Given the description of an element on the screen output the (x, y) to click on. 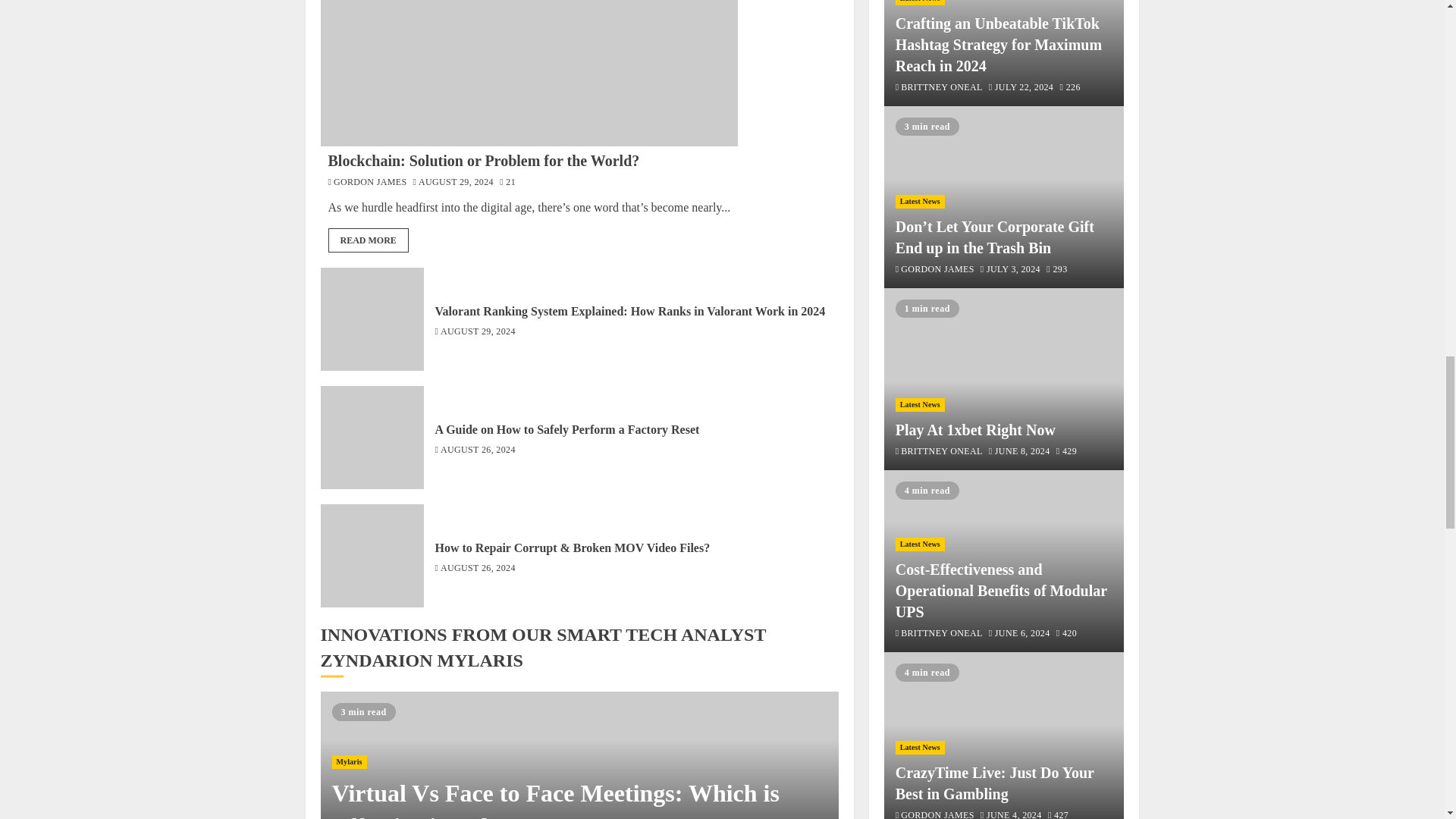
A Guide on How to Safely Perform a Factory Reset (371, 436)
Blockchain: Solution or Problem for the World? (529, 73)
